Given the description of an element on the screen output the (x, y) to click on. 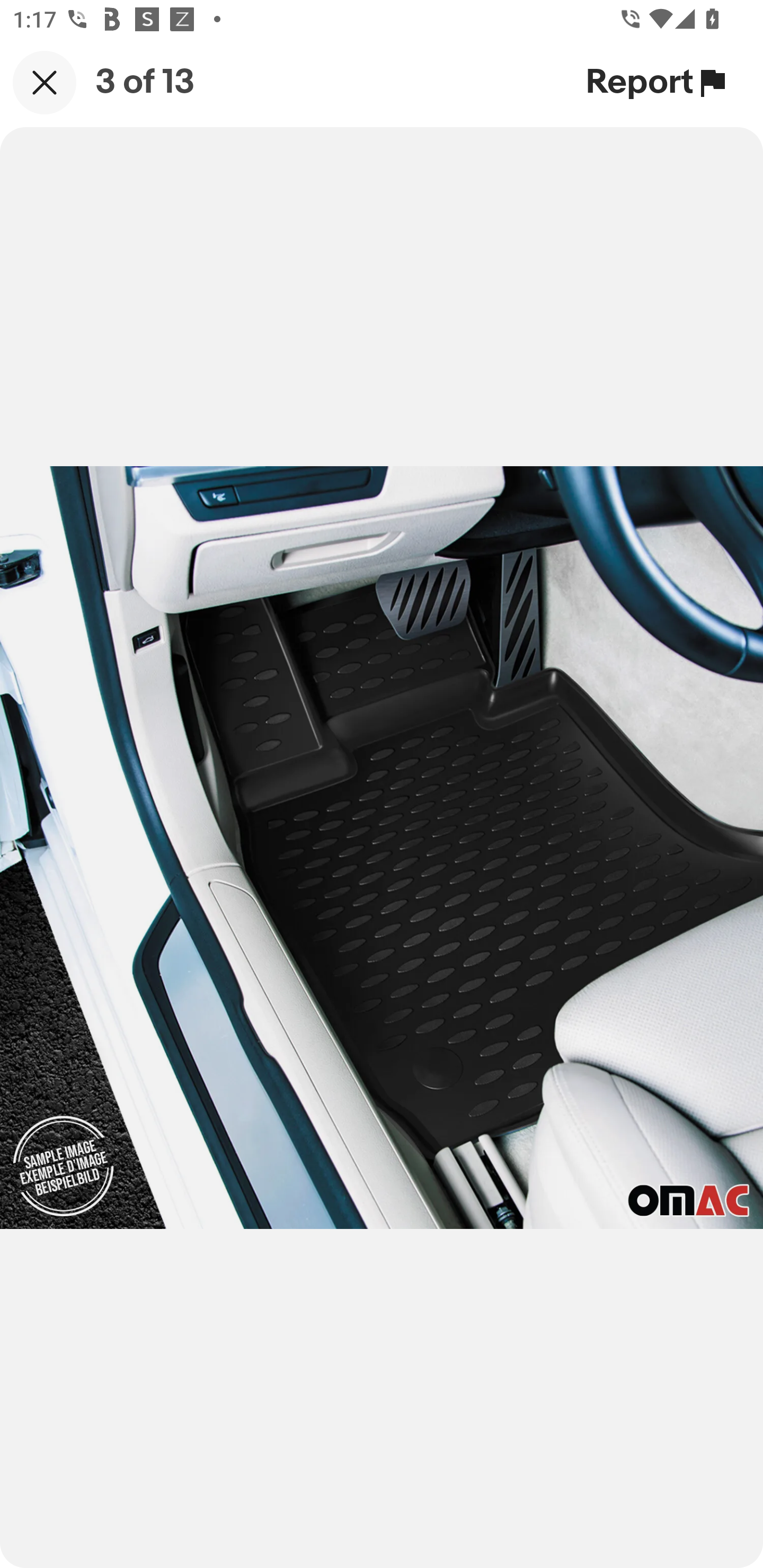
Close (44, 82)
Report Report this item (658, 82)
